Given the description of an element on the screen output the (x, y) to click on. 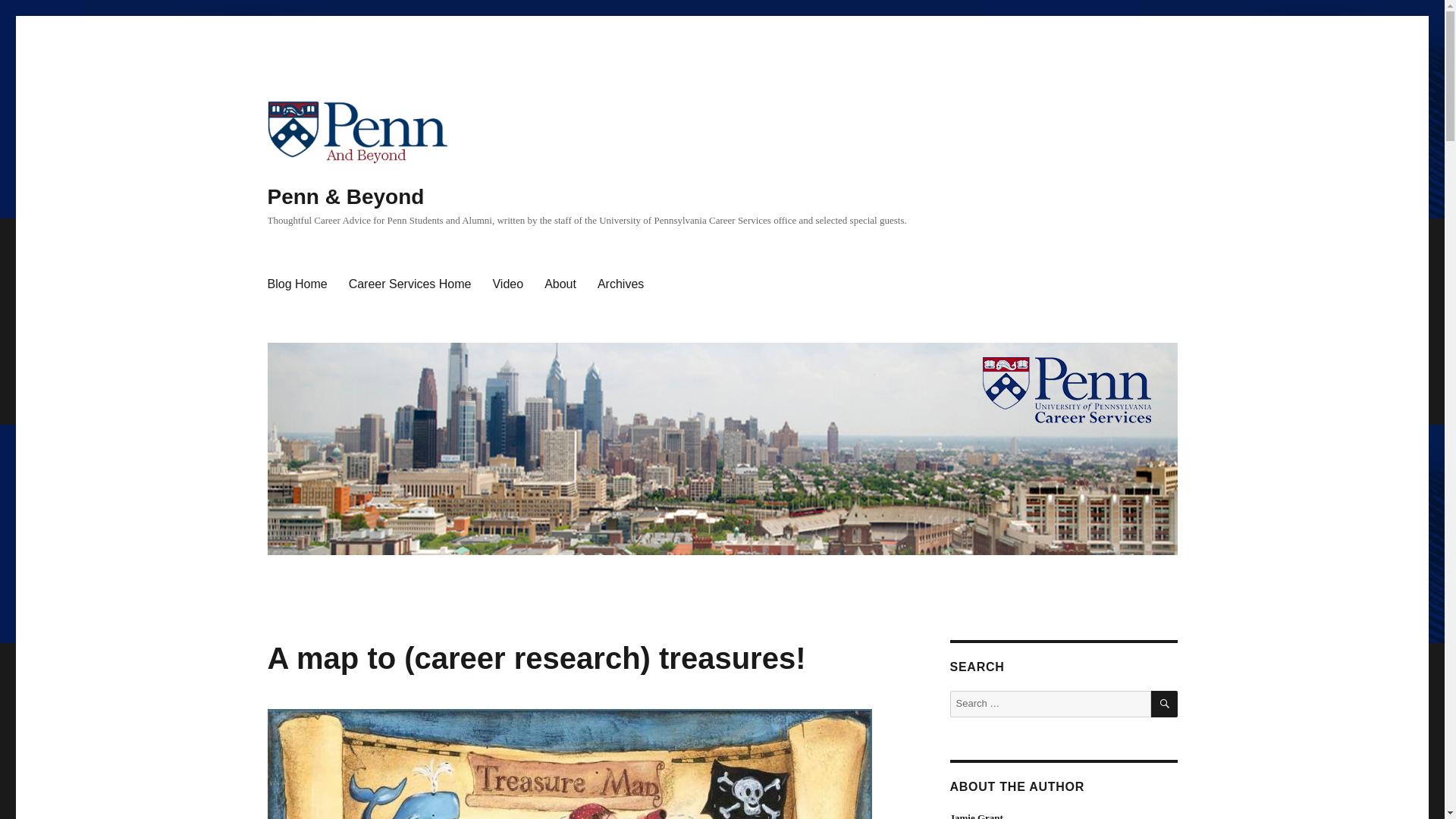
Career Services Home (409, 284)
Video (507, 284)
Blog Home (296, 284)
Archives (619, 284)
About (560, 284)
